Given the description of an element on the screen output the (x, y) to click on. 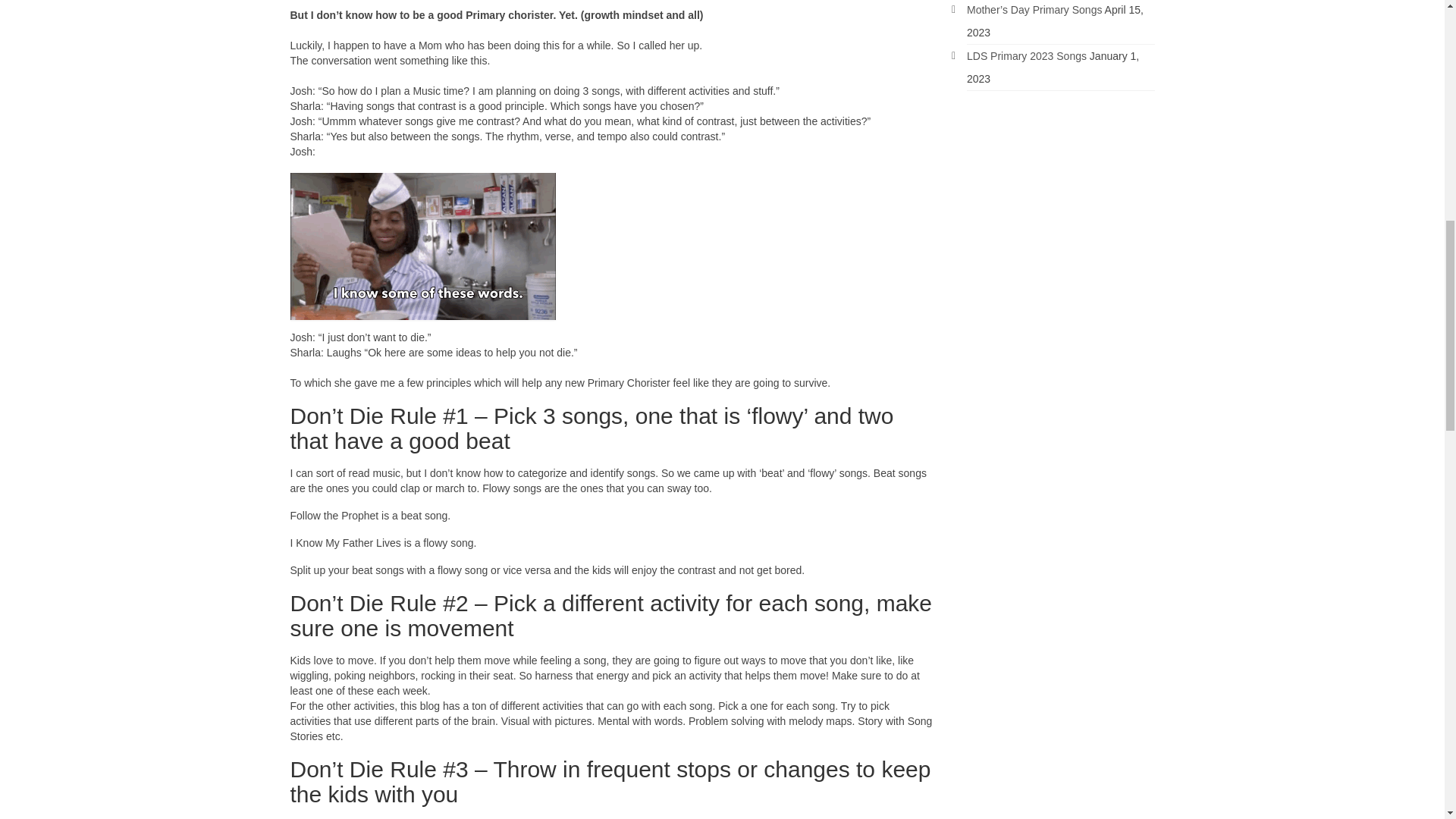
LDS Primary 2023 Songs (1026, 55)
